Given the description of an element on the screen output the (x, y) to click on. 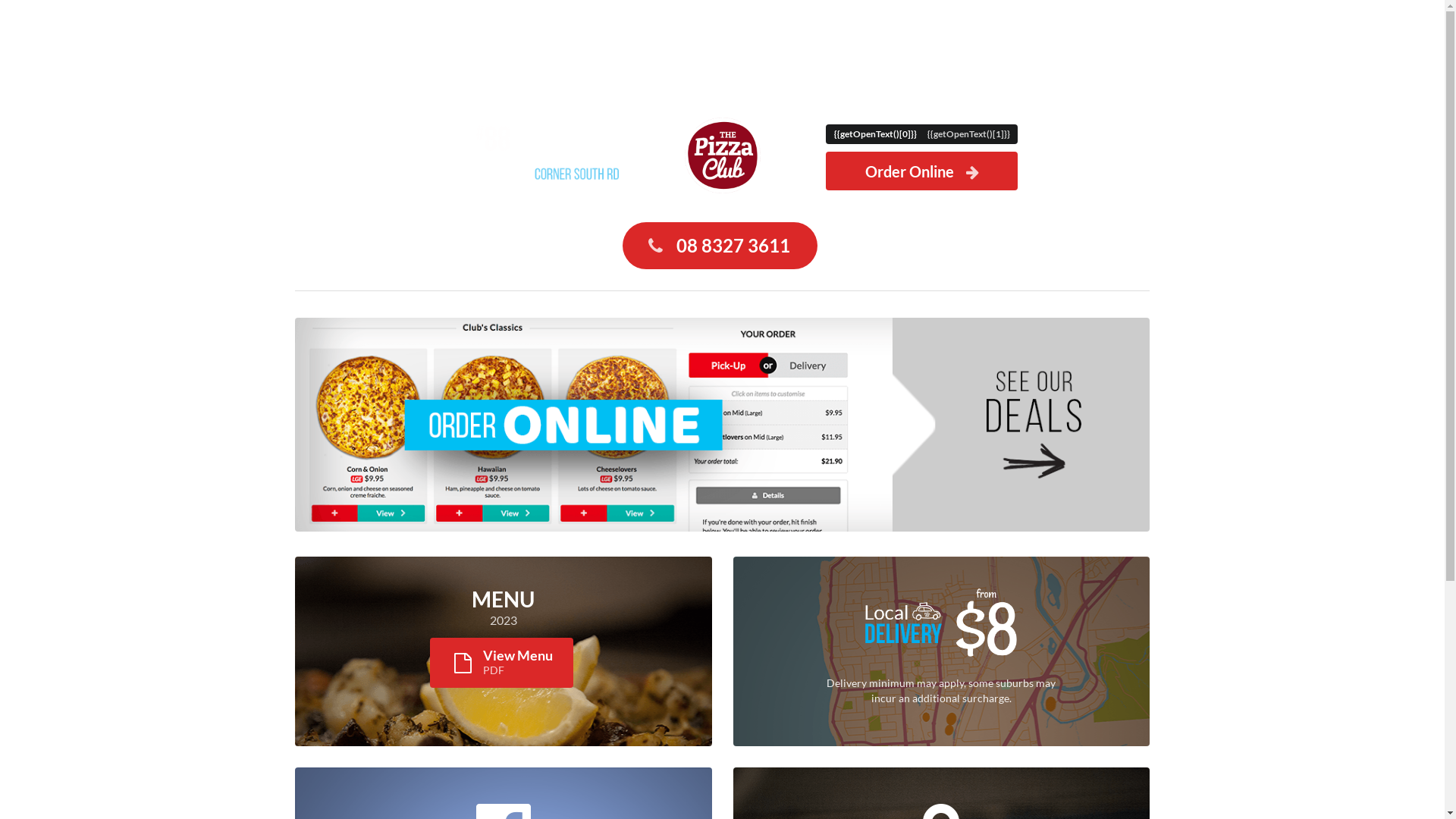
View Menu
PDF Element type: text (500, 662)
Order online now Element type: hover (721, 526)
Order Online Element type: text (921, 170)
08 8327 3611 Element type: text (733, 245)
